Given the description of an element on the screen output the (x, y) to click on. 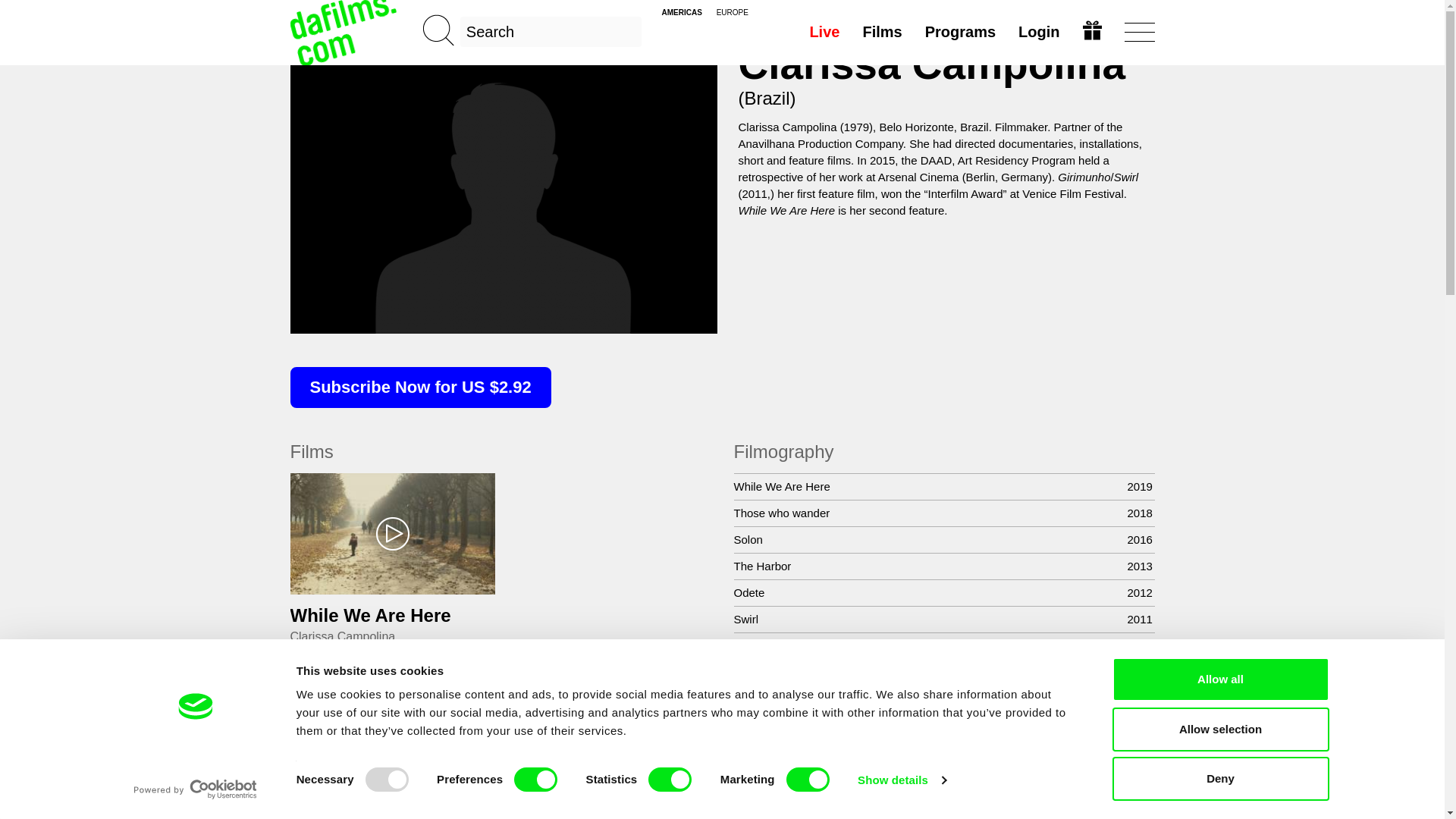
Home (343, 32)
Show details (900, 780)
